Given the description of an element on the screen output the (x, y) to click on. 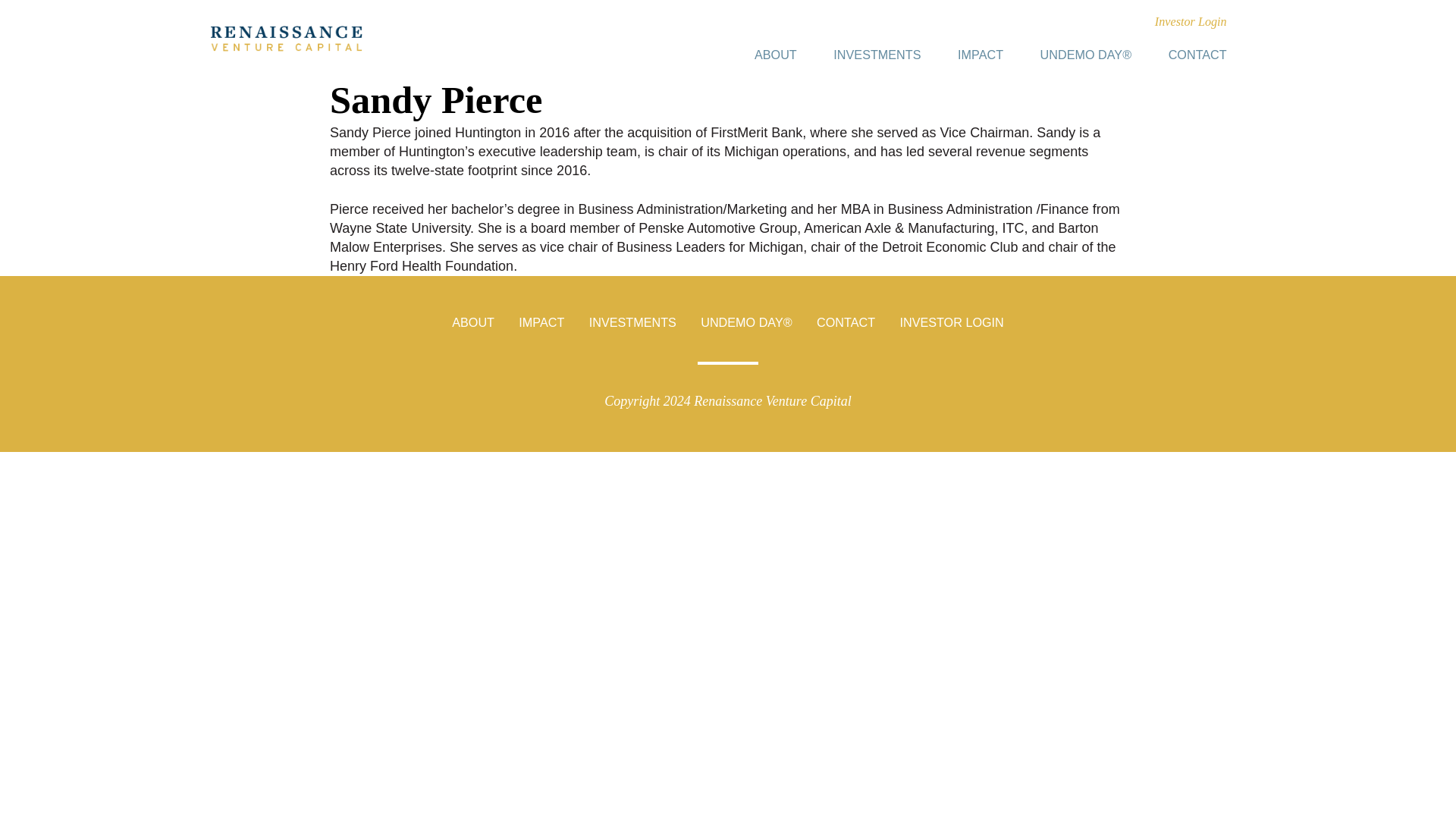
IMPACT (541, 322)
ABOUT (472, 322)
IMPACT (980, 54)
INVESTMENTS (632, 322)
ABOUT (775, 54)
CONTACT (845, 322)
CONTACT (1197, 54)
INVESTOR LOGIN (951, 322)
Investor Login (1190, 21)
INVESTMENTS (877, 54)
